Given the description of an element on the screen output the (x, y) to click on. 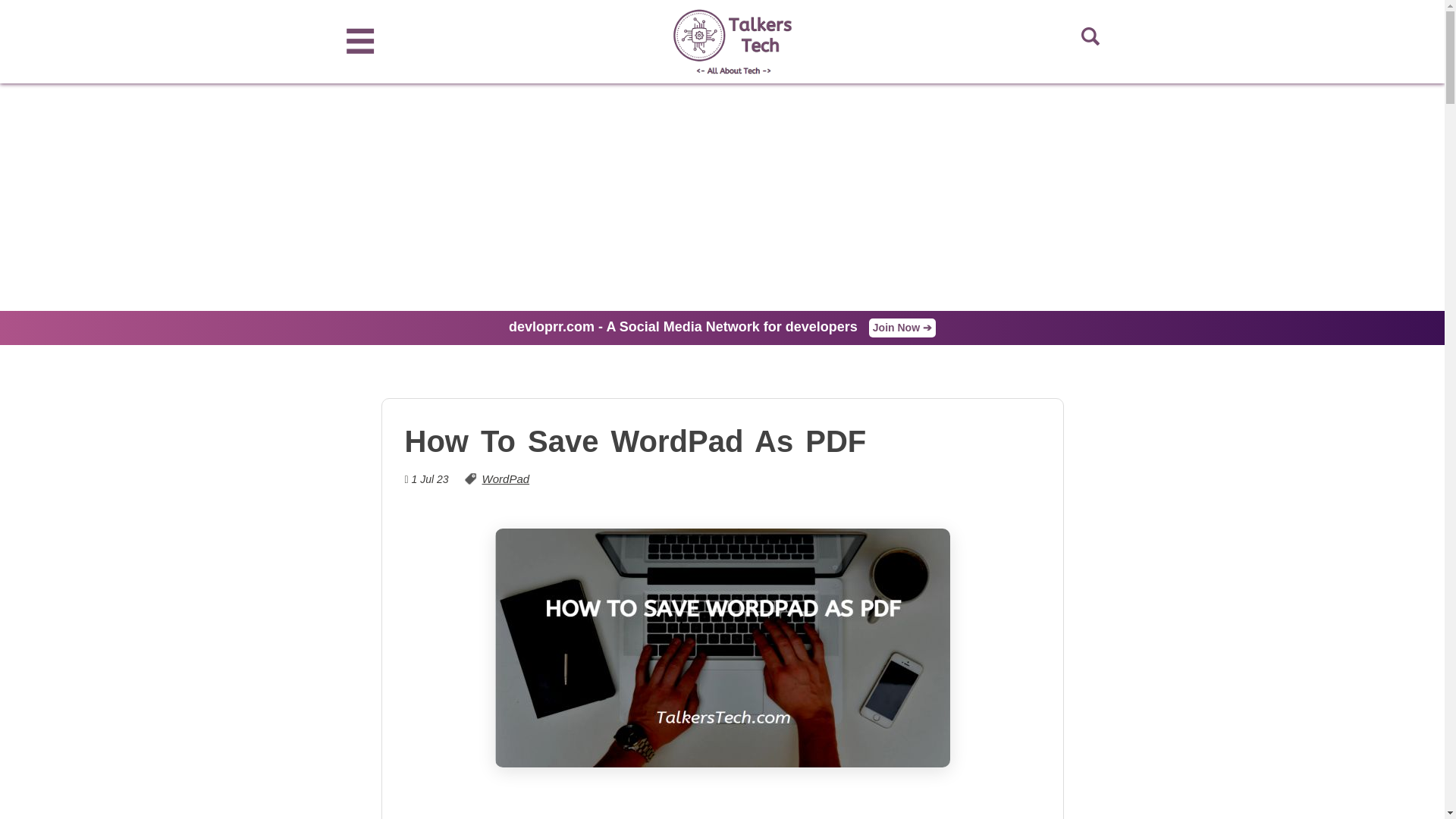
WordPad (505, 478)
